Given the description of an element on the screen output the (x, y) to click on. 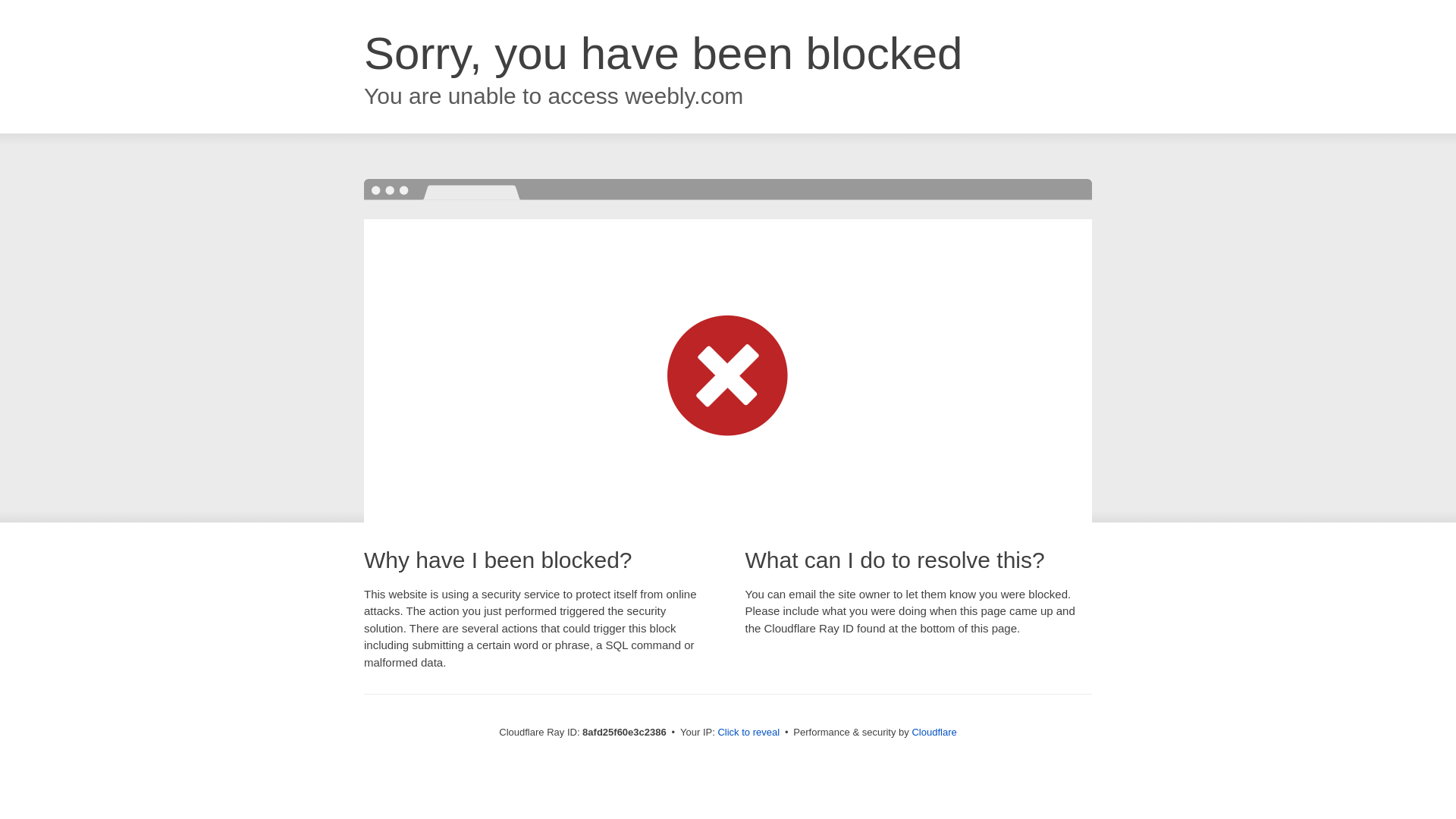
Cloudflare (933, 731)
Click to reveal (747, 732)
